Given the description of an element on the screen output the (x, y) to click on. 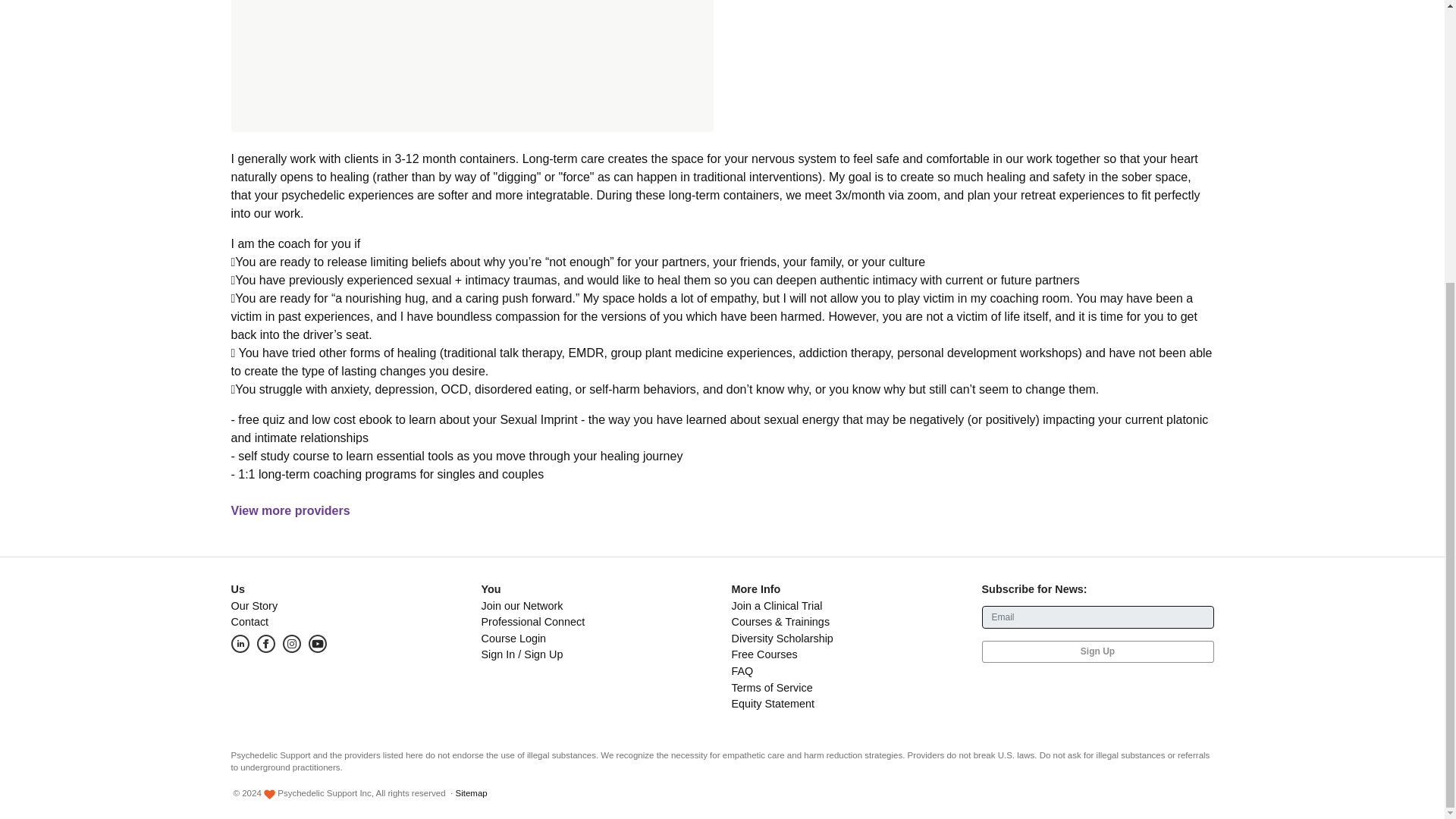
Sign In (497, 654)
Diversity Scholarship (781, 638)
Sign Up (543, 654)
Psychedelic Support on LinkedIn (243, 643)
Join our Network (521, 605)
Psychedelic Support on Facebook (265, 643)
Our Story (254, 605)
Professional Connect (532, 621)
View more providers (289, 510)
Contact (248, 621)
Psychedelic Support on Youtube (320, 643)
Psychedelic Support on Facebook (269, 643)
Psychedelic Support on Instagram (290, 643)
Free Courses (763, 654)
Course Login (513, 638)
